Given the description of an element on the screen output the (x, y) to click on. 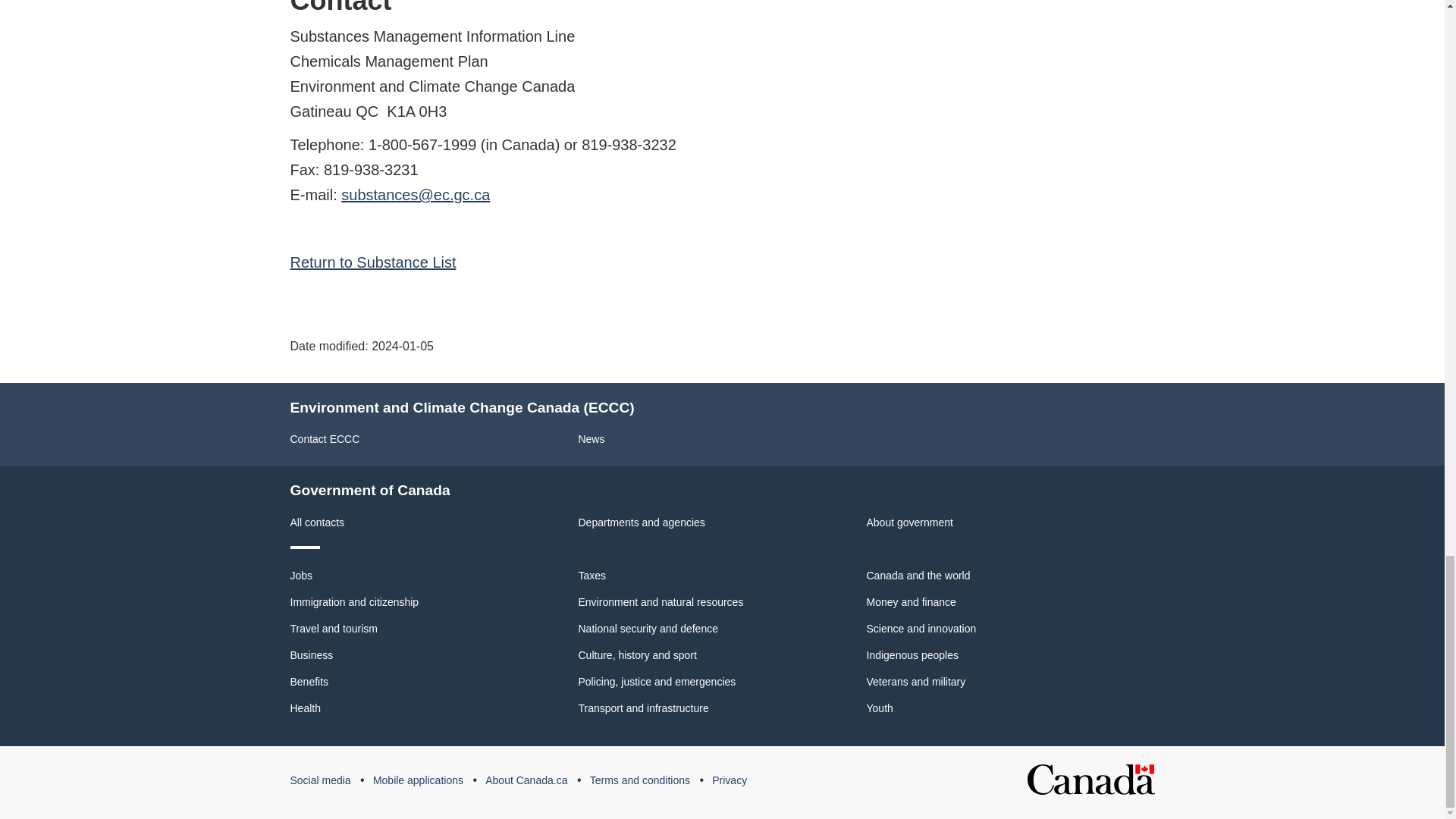
Return to Substance List (372, 262)
